Given the description of an element on the screen output the (x, y) to click on. 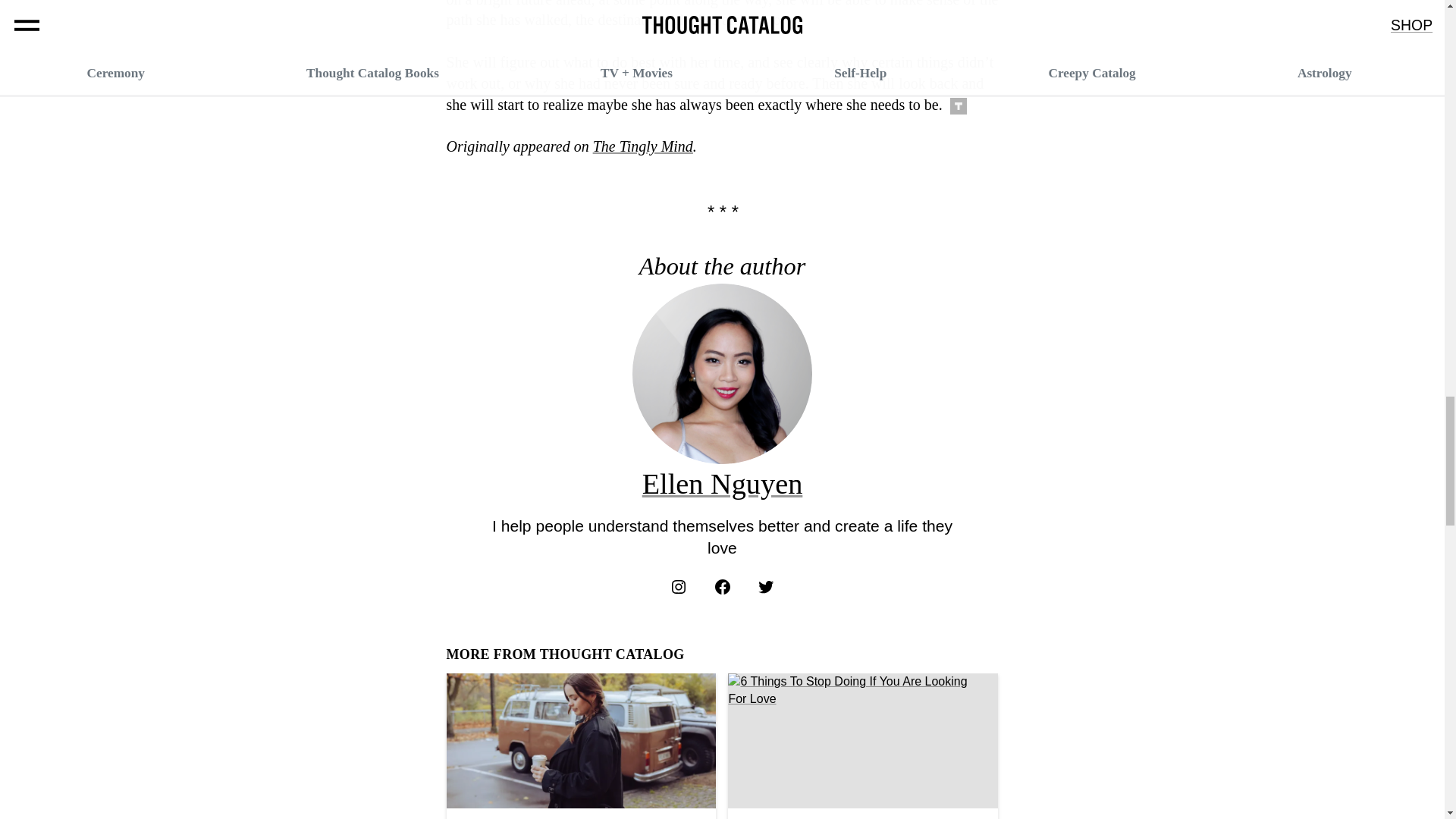
Ellen Nguyen author profile (722, 483)
Twitter (765, 587)
Ellen Nguyen author profile (721, 451)
The Tingly Mind (642, 146)
Facebook (721, 587)
Ellen Nguyen (722, 483)
Instagram (678, 587)
